Given the description of an element on the screen output the (x, y) to click on. 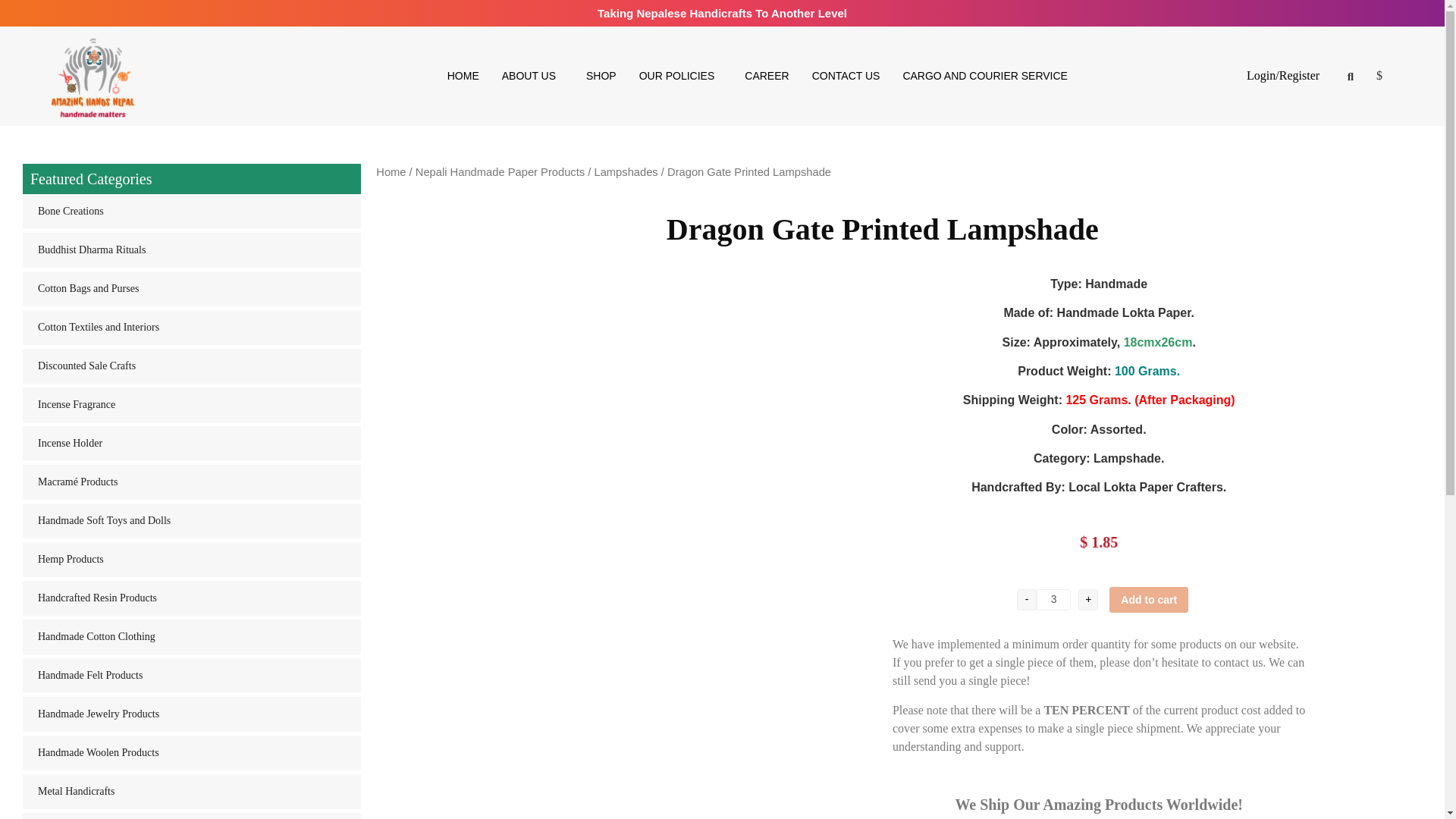
Qty (1053, 599)
3 (1053, 599)
CONTACT US (845, 75)
SHOP (601, 75)
HOME (462, 75)
CAREER (766, 75)
CARGO AND COURIER SERVICE (984, 75)
ABOUT US (532, 75)
OUR POLICIES (680, 75)
